Given the description of an element on the screen output the (x, y) to click on. 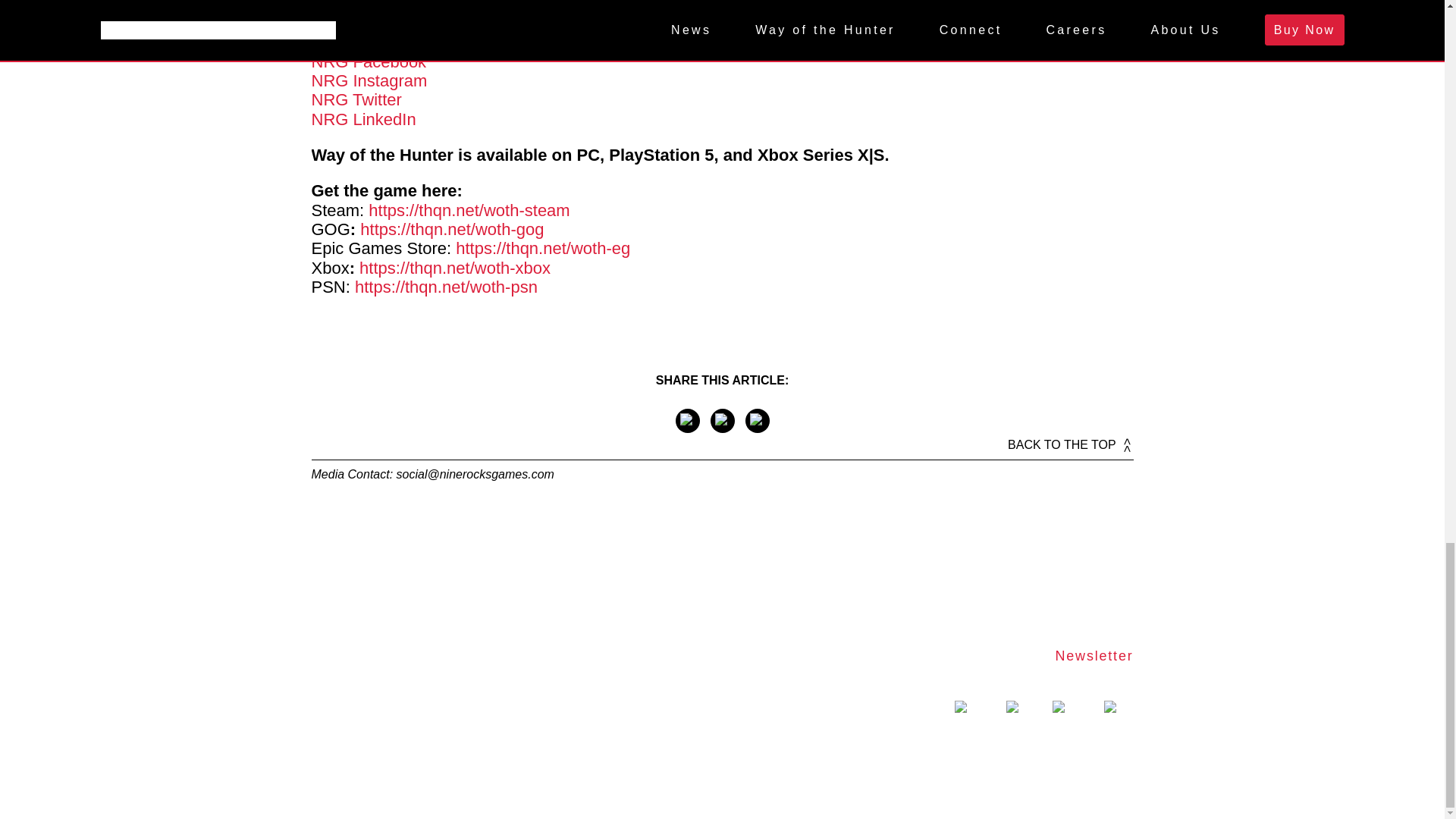
Discord (339, 7)
Newsletter (1093, 655)
NRG Instagram (368, 80)
WOTH Web (355, 26)
NRG Facebook (368, 61)
NRG Twitter (356, 99)
NRG LinkedIn (362, 118)
PRESS (979, 744)
PRIVACY POLICY (1078, 744)
